Given the description of an element on the screen output the (x, y) to click on. 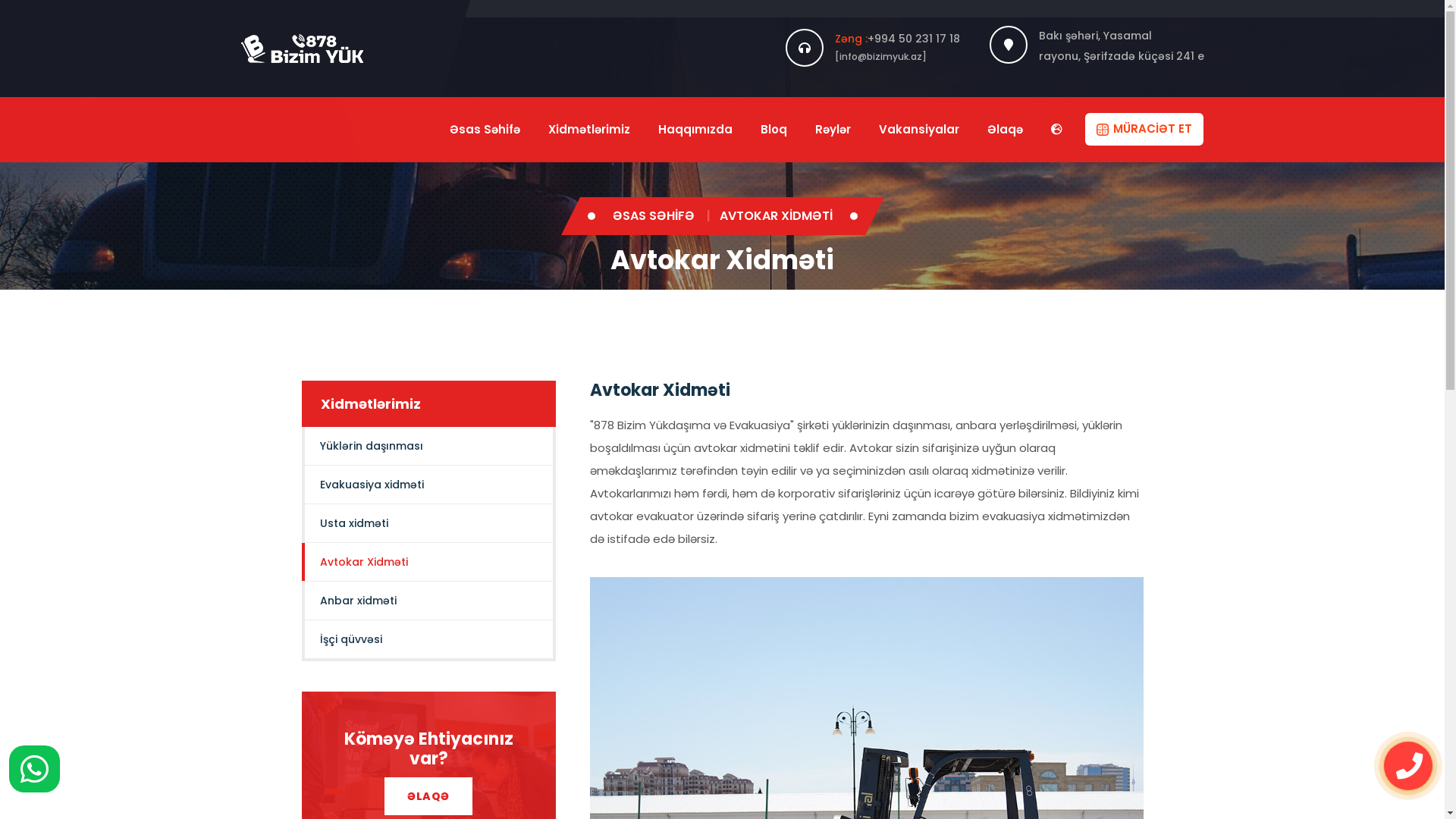
[info@bizimyuk.az] Element type: text (879, 56)
Bloq Element type: text (773, 129)
Vakansiyalar Element type: text (918, 129)
